Given the description of an element on the screen output the (x, y) to click on. 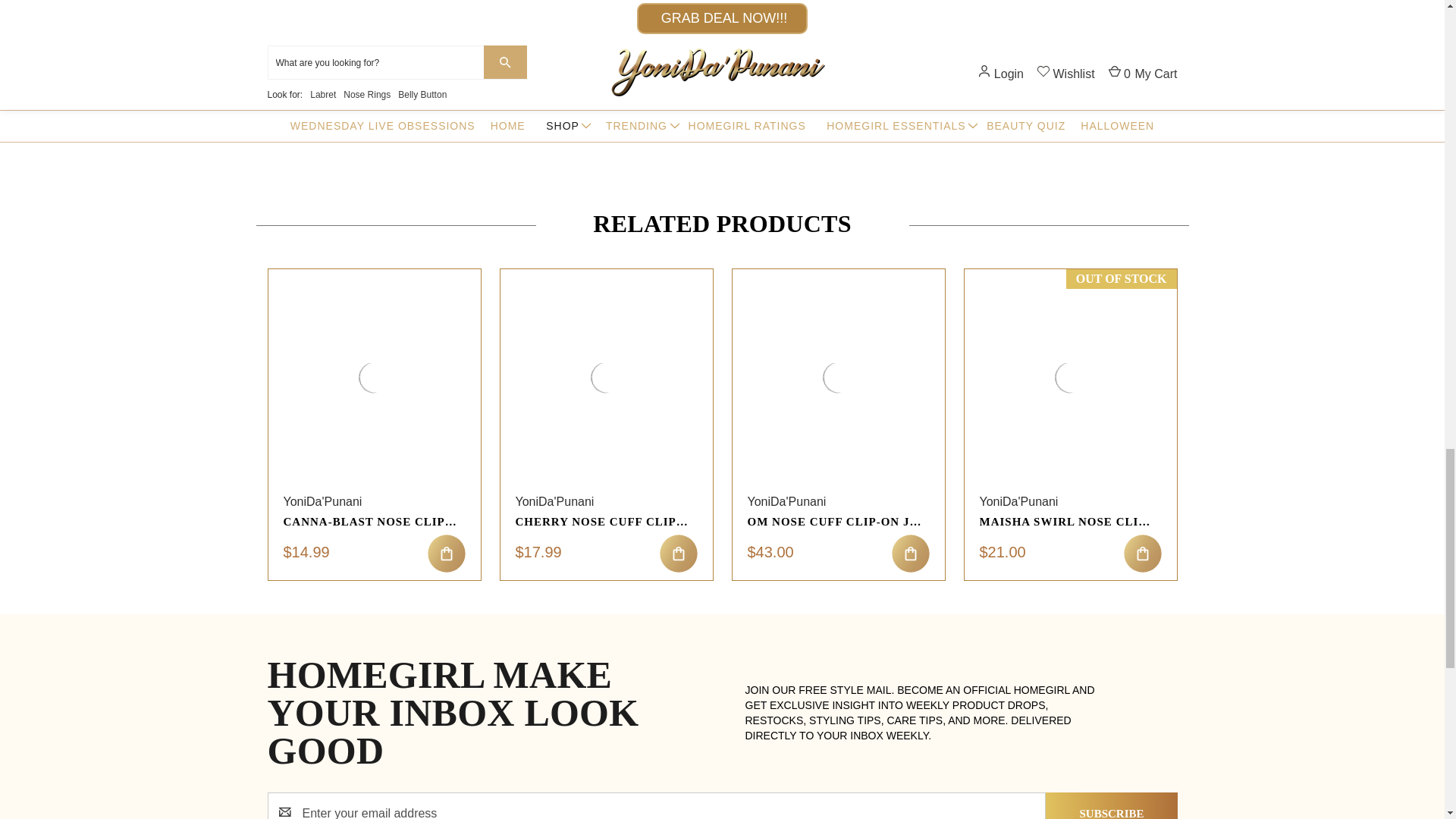
Subscribe (1110, 805)
